Given the description of an element on the screen output the (x, y) to click on. 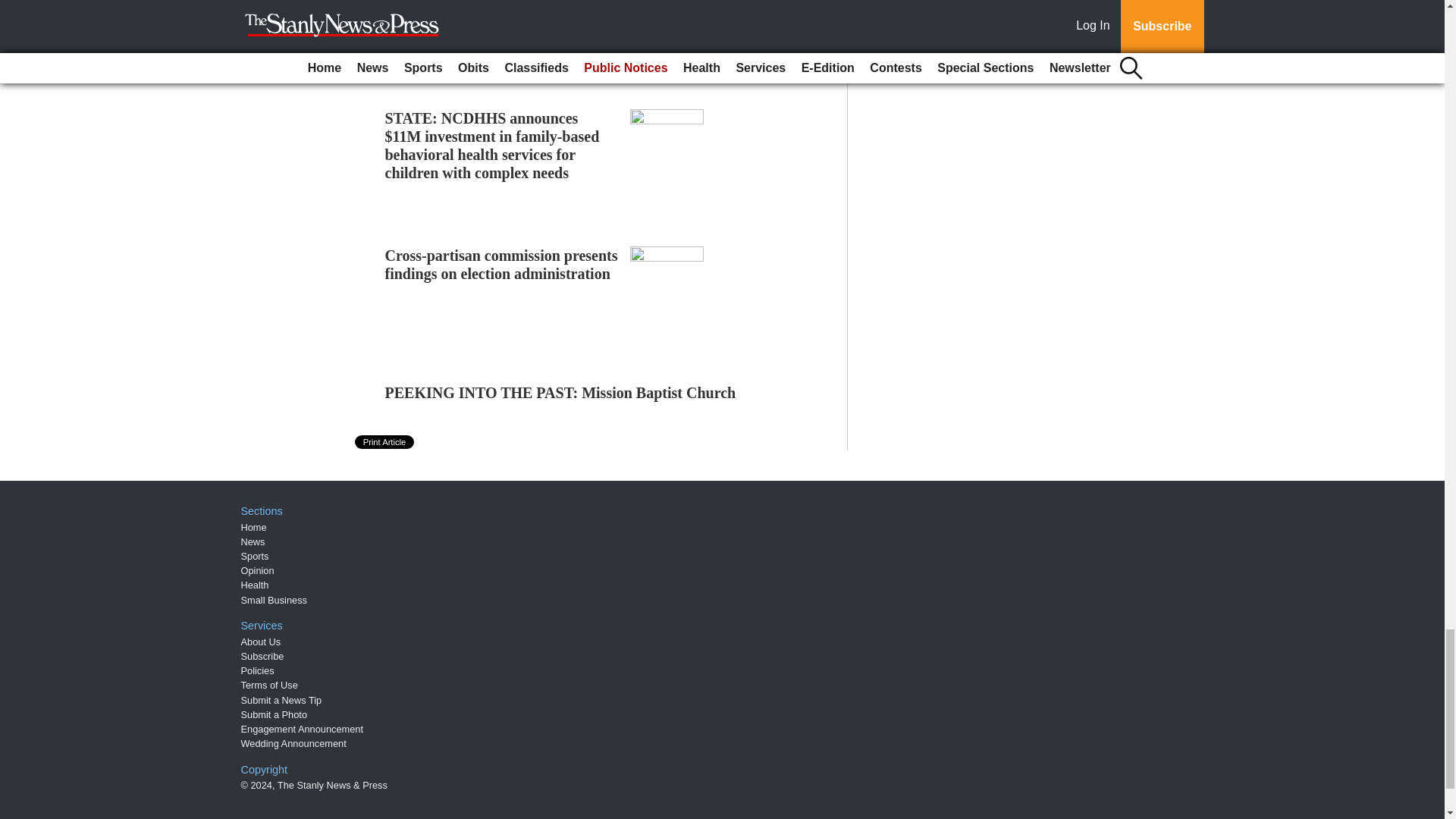
PEEKING INTO THE PAST: Mission Baptist Church (560, 392)
Home (253, 527)
Print Article (384, 441)
PEEKING INTO THE PAST: Mission Baptist Church (560, 392)
